Given the description of an element on the screen output the (x, y) to click on. 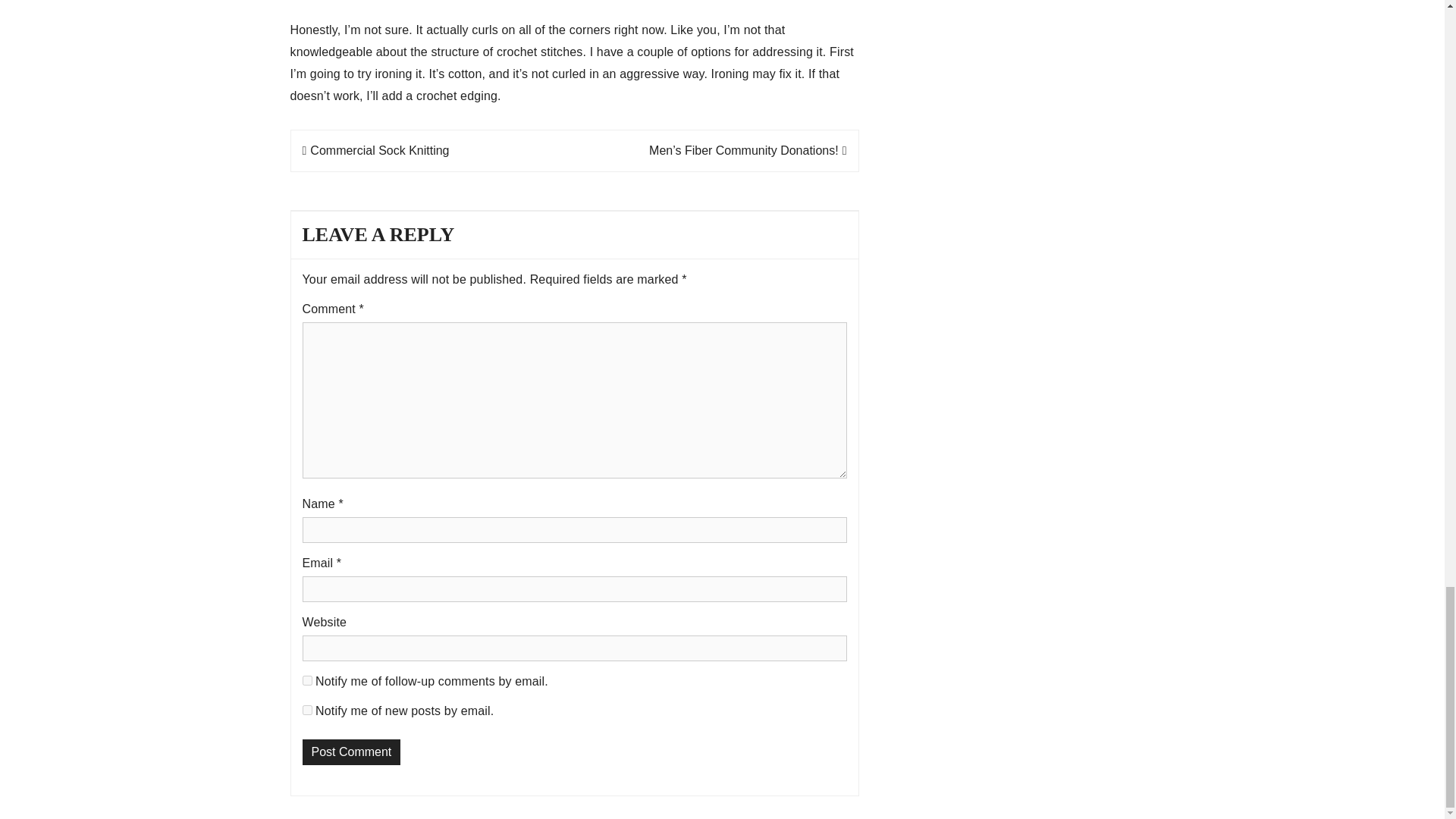
subscribe (306, 680)
subscribe (306, 709)
Post Comment (350, 752)
Commercial Sock Knitting (374, 150)
Post Comment (350, 752)
